Given the description of an element on the screen output the (x, y) to click on. 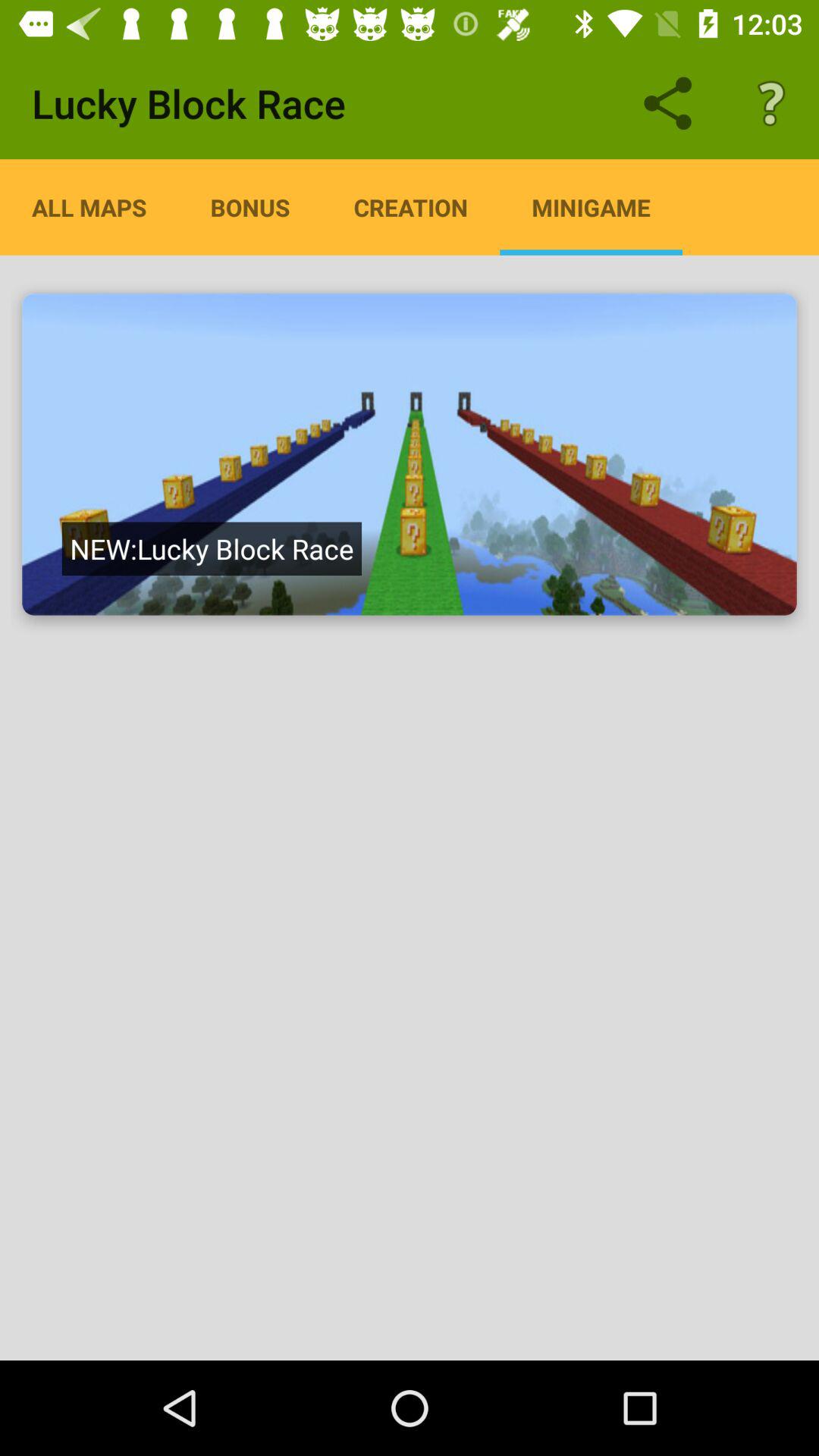
play game (409, 454)
